Given the description of an element on the screen output the (x, y) to click on. 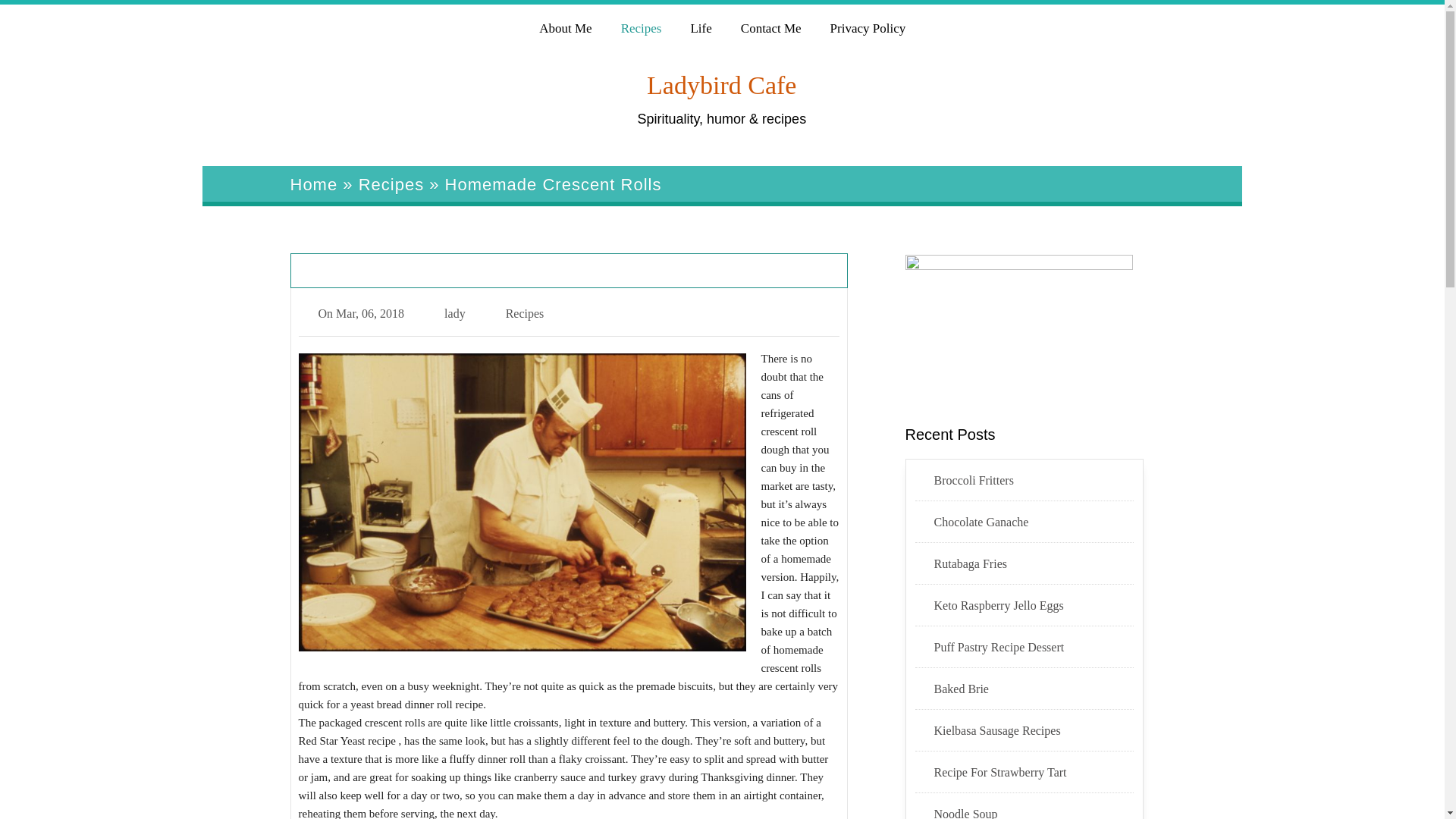
Ladybird Cafe (721, 85)
Recipe For Strawberry Tart (1034, 772)
Kielbasa Sausage Recipes (1034, 730)
lady (454, 313)
Contact Me (769, 26)
Recipes (524, 313)
Chocolate Ganache (1034, 522)
Life (700, 26)
Ladybird Cafe (721, 85)
Broccoli Fritters (1034, 480)
Mar, 06, 2018 (370, 313)
Keto Raspberry Jello Eggs (1034, 606)
Recipes (390, 184)
Baked Brie (1034, 689)
Privacy Policy (867, 26)
